Given the description of an element on the screen output the (x, y) to click on. 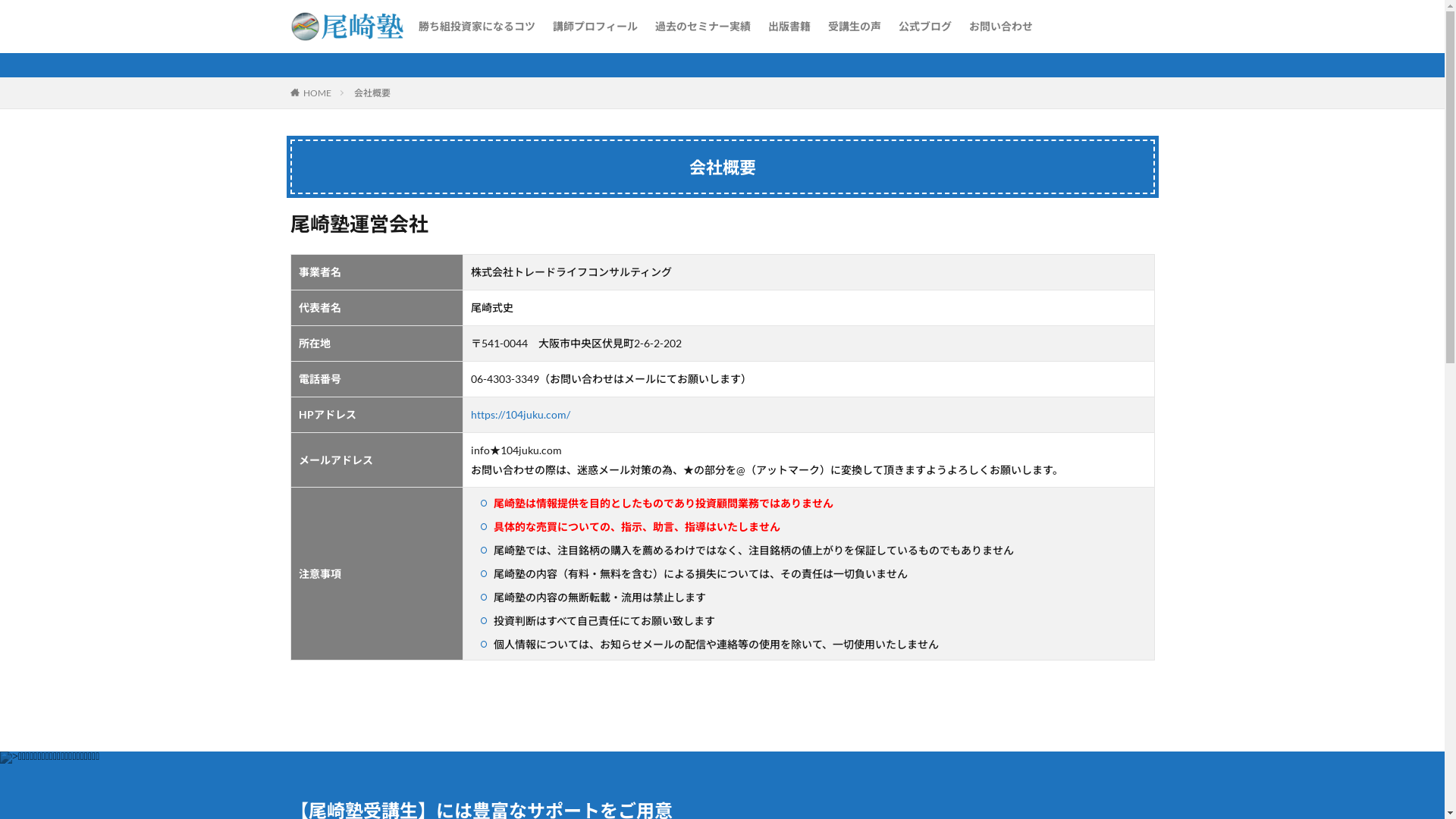
HOME Element type: text (317, 92)
https://104juku.com/ Element type: text (520, 413)
